Given the description of an element on the screen output the (x, y) to click on. 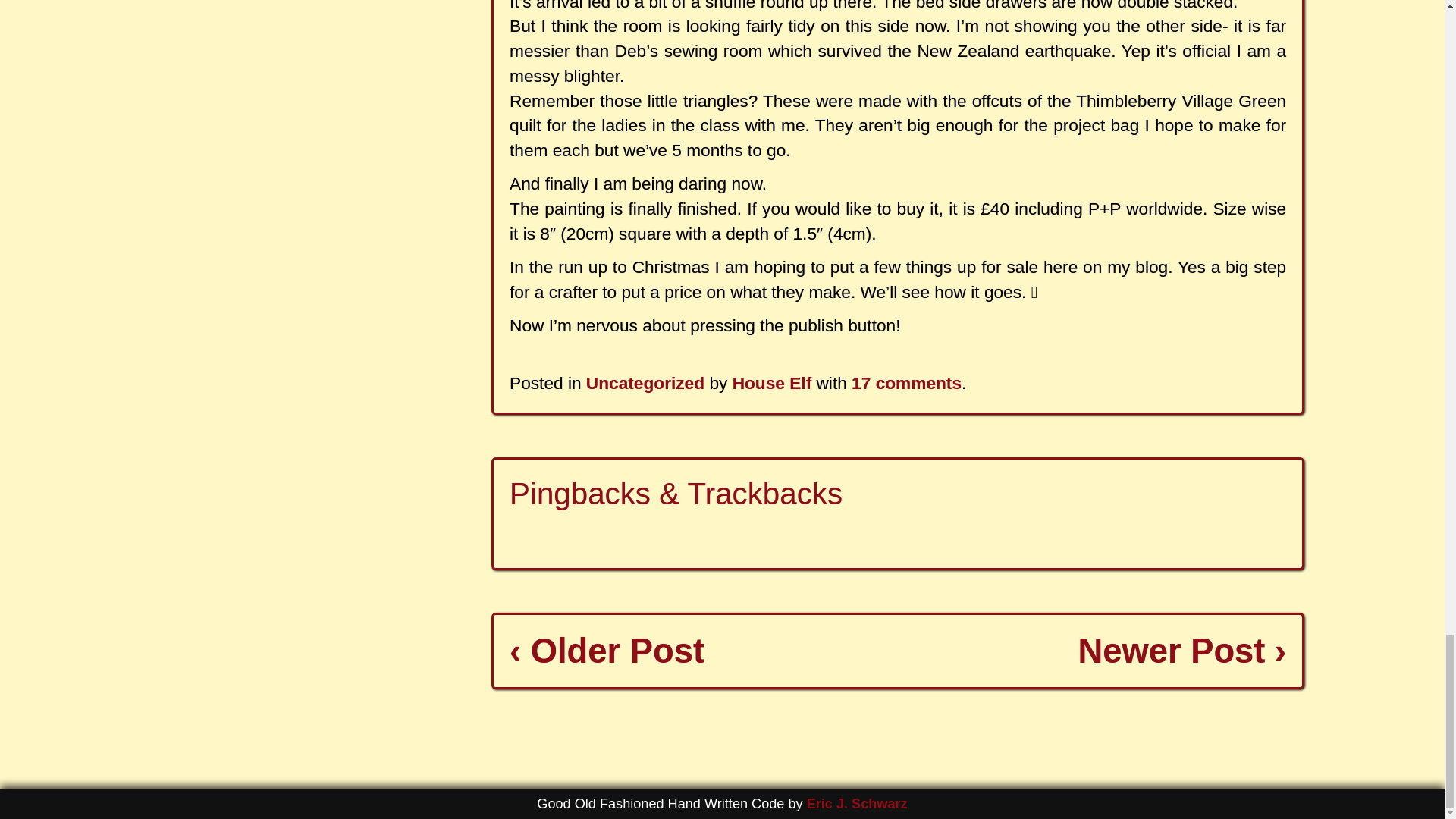
Uncategorized (645, 383)
17 comments (905, 383)
House Elf (772, 383)
Posts by House Elf (772, 383)
